Given the description of an element on the screen output the (x, y) to click on. 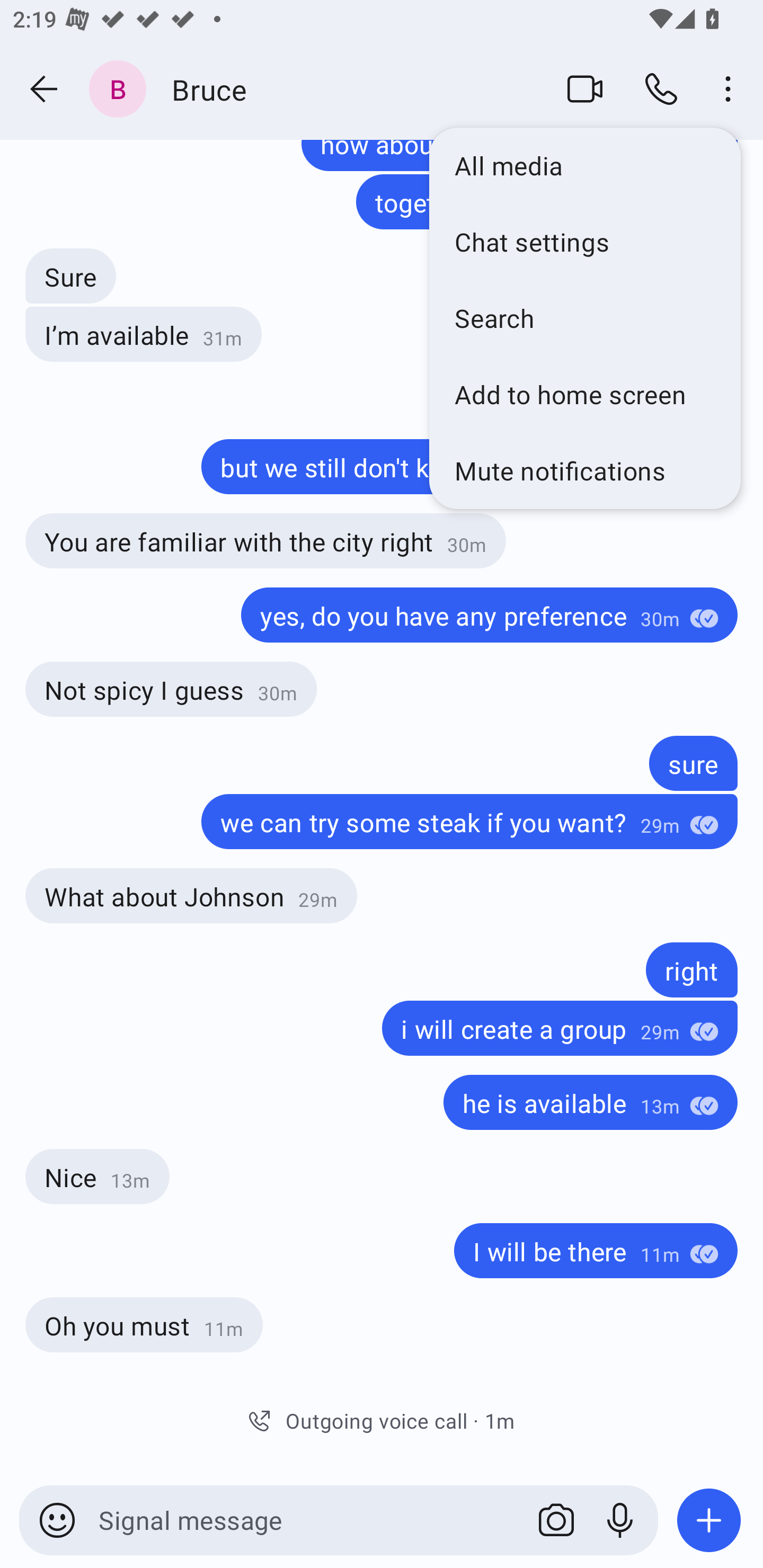
Mute notifications (584, 470)
